Given the description of an element on the screen output the (x, y) to click on. 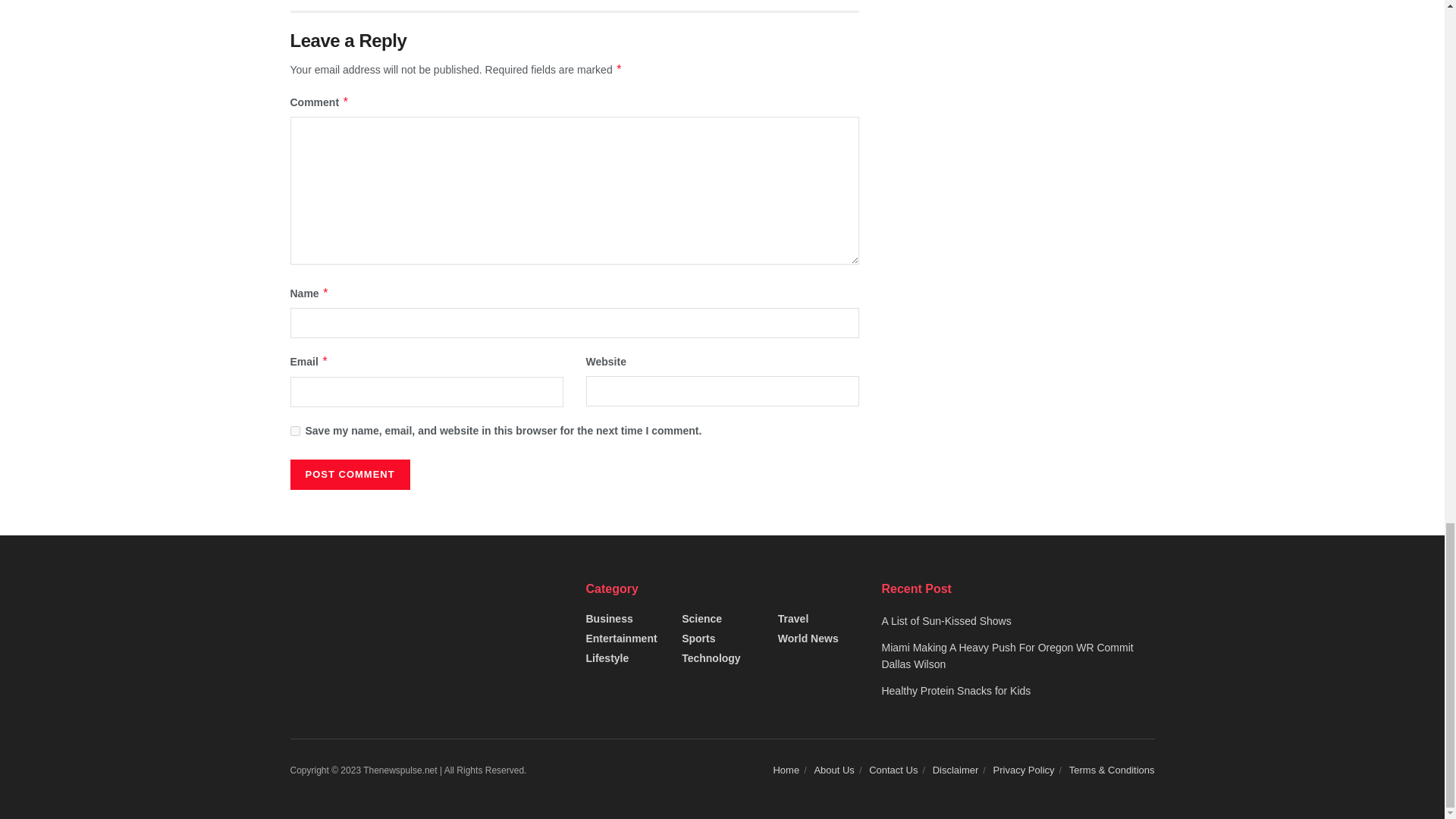
Post Comment (349, 474)
yes (294, 430)
